Given the description of an element on the screen output the (x, y) to click on. 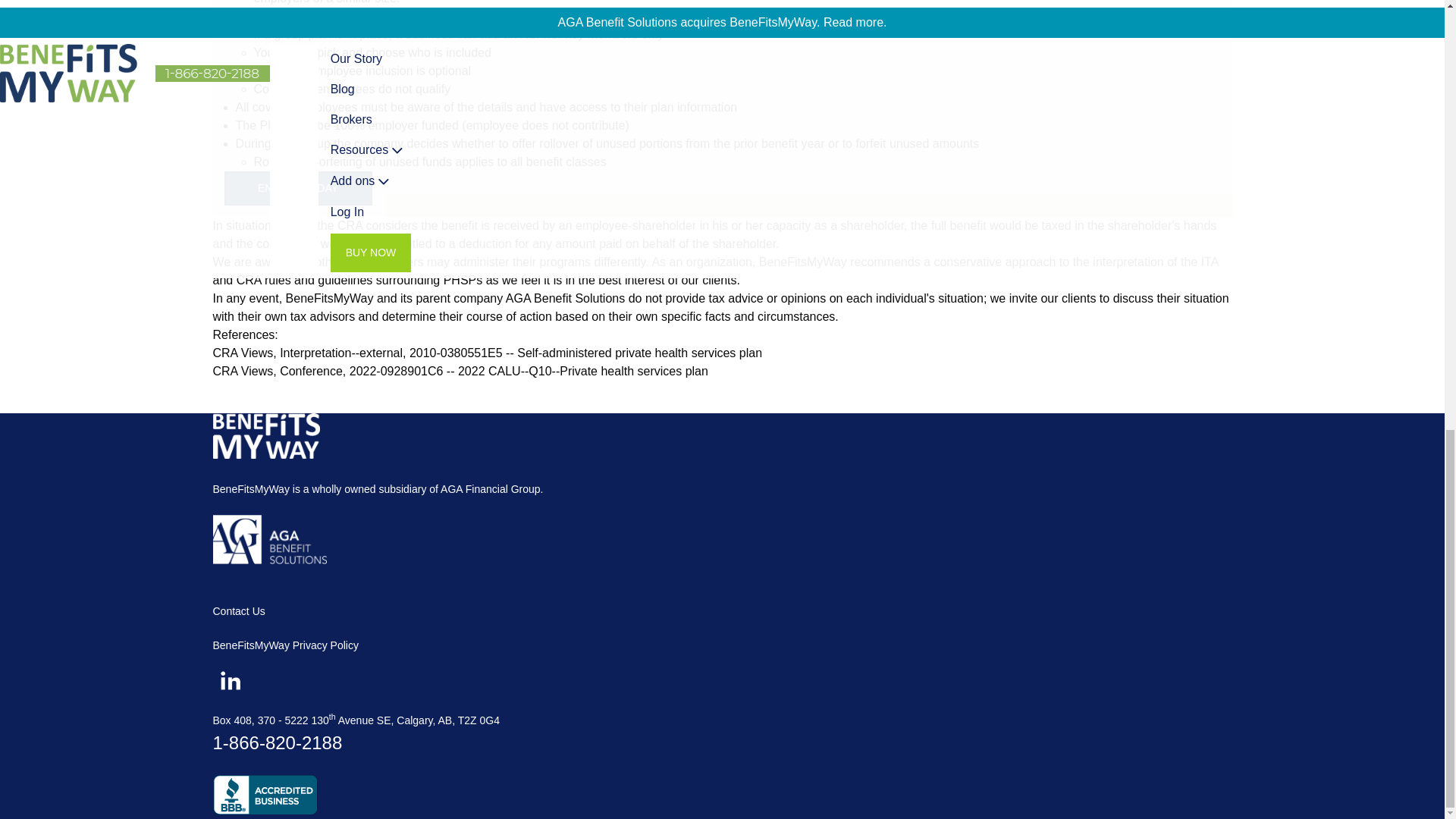
ENROLL TODAY (298, 188)
BeneFitsMyWay Privacy Policy (285, 645)
Contact Us (238, 611)
